Given the description of an element on the screen output the (x, y) to click on. 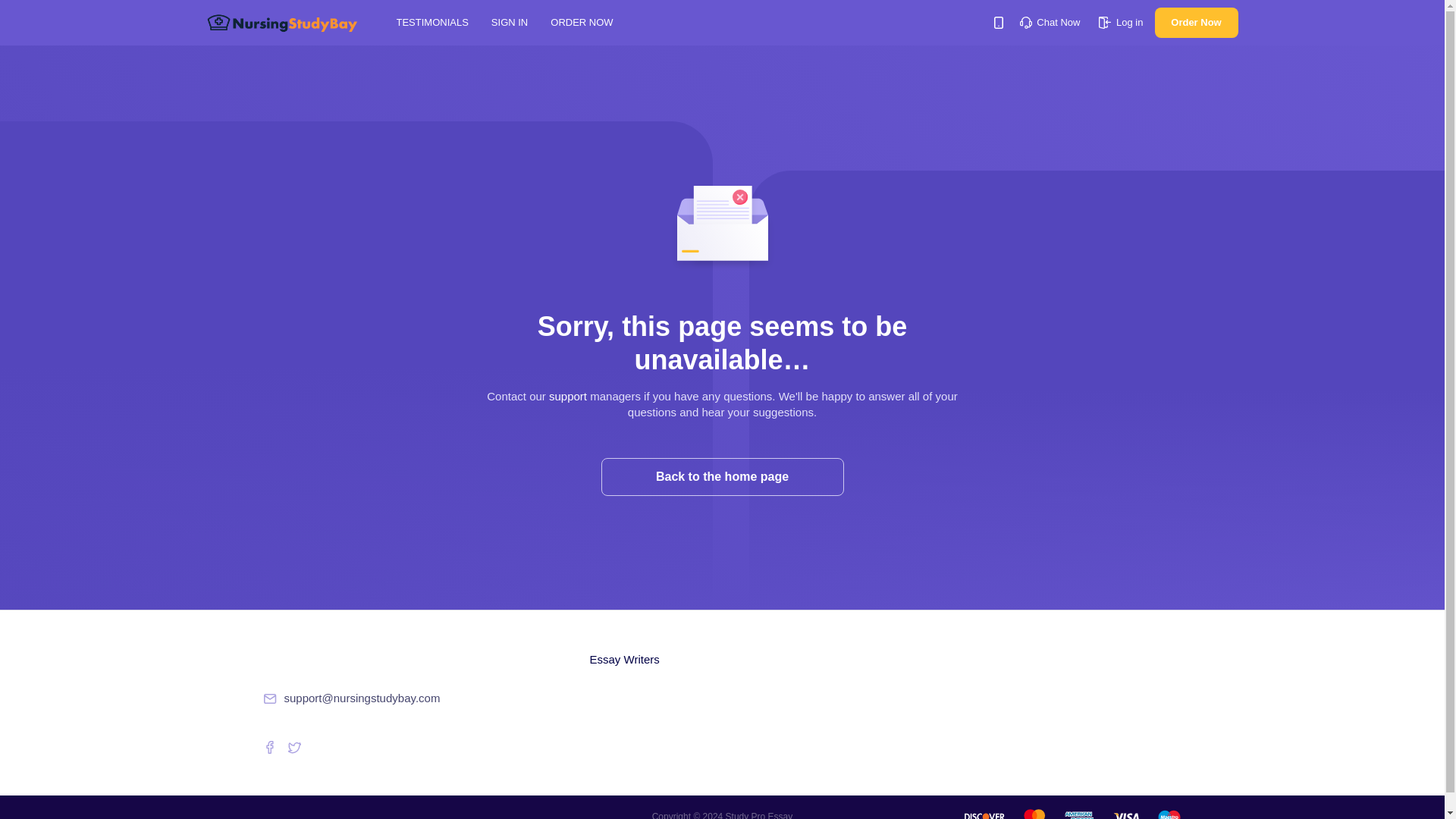
support (567, 395)
Chat Now (1050, 21)
Essay Writers (624, 659)
SIGN IN (509, 21)
TESTIMONIALS (431, 21)
Order Now (1195, 22)
ORDER NOW (581, 21)
Back to the home page (721, 476)
Log in (1120, 21)
